Given the description of an element on the screen output the (x, y) to click on. 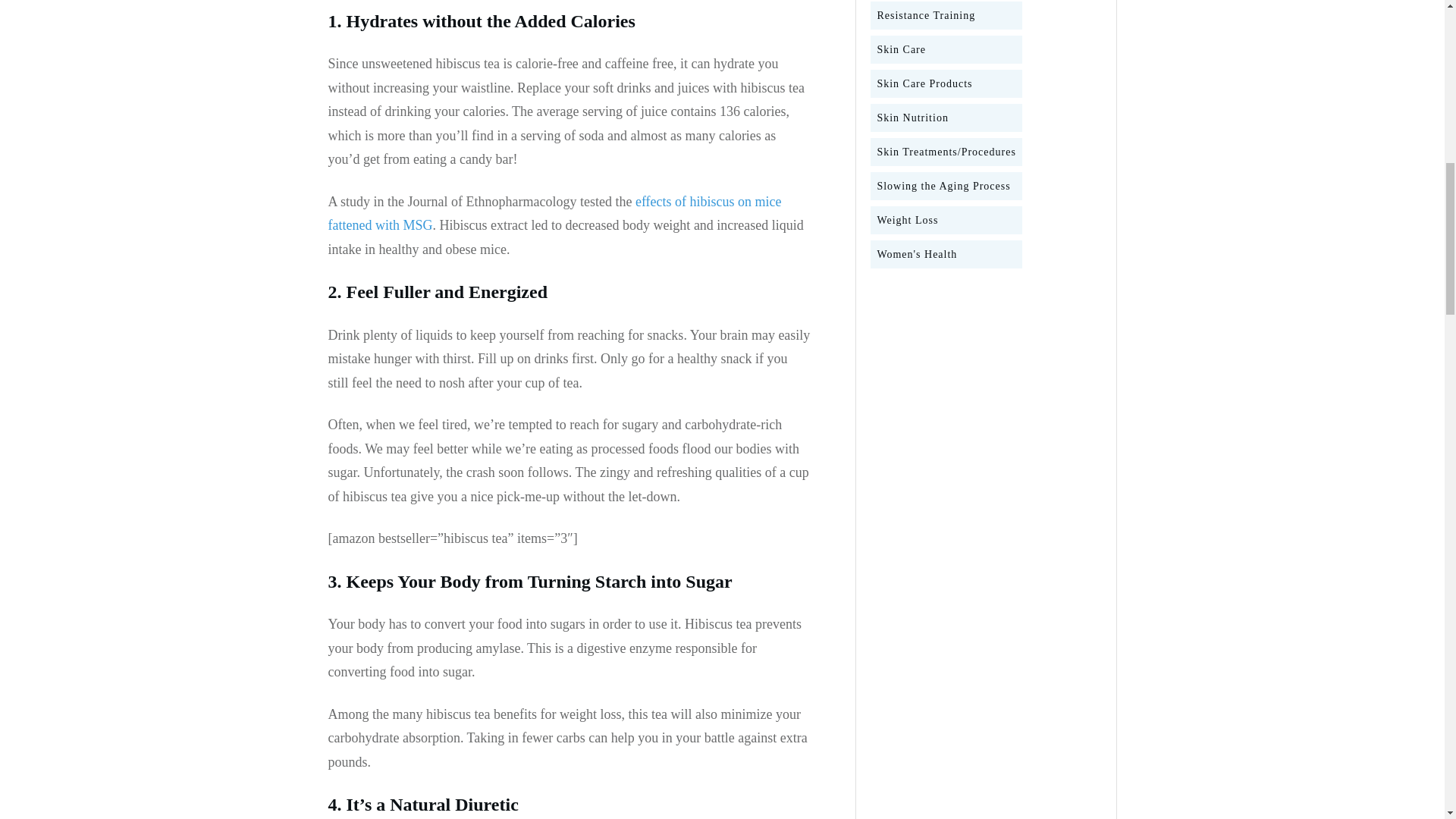
effects of hibiscus on mice fattened with MSG (553, 213)
